Given the description of an element on the screen output the (x, y) to click on. 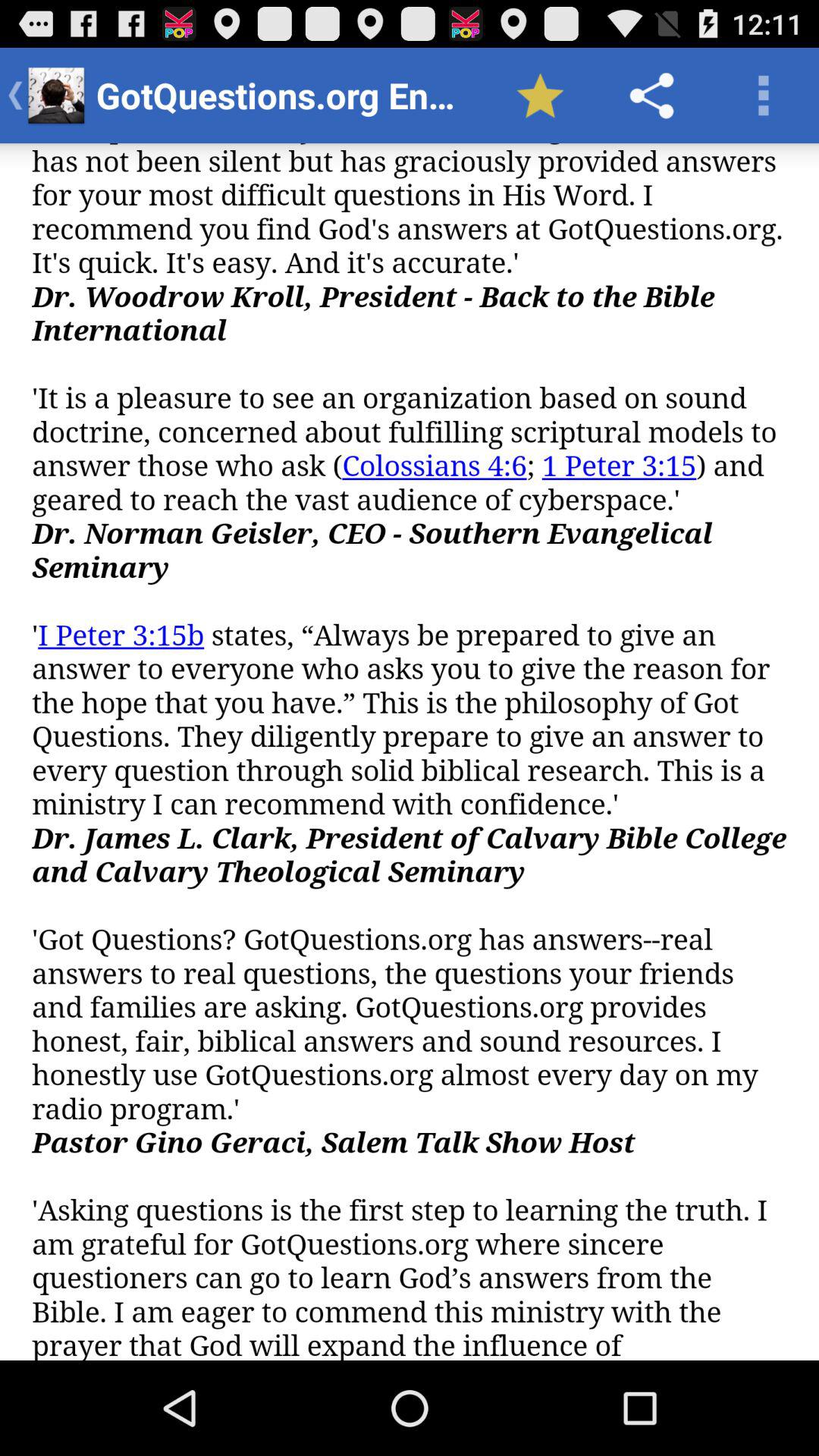
read all (409, 751)
